Given the description of an element on the screen output the (x, y) to click on. 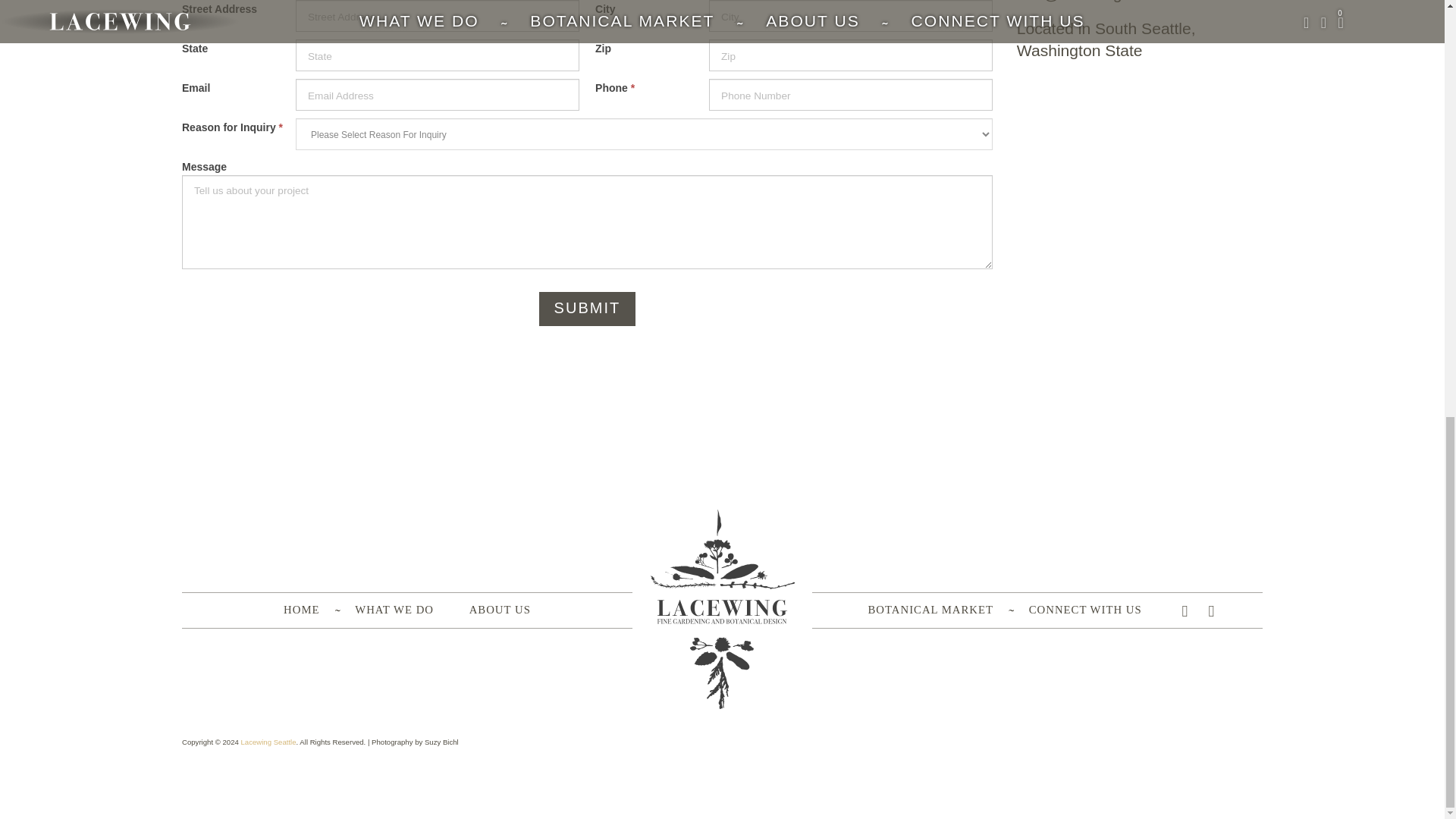
CONNECT WITH US (1085, 609)
Fine Gardening and Botanical Design (267, 741)
ABOUT US (499, 609)
BOTANICAL MARKET (929, 609)
SUBMIT (587, 308)
WHAT WE DO (394, 609)
HOME (300, 609)
Lacewing Seattle (267, 741)
